Given the description of an element on the screen output the (x, y) to click on. 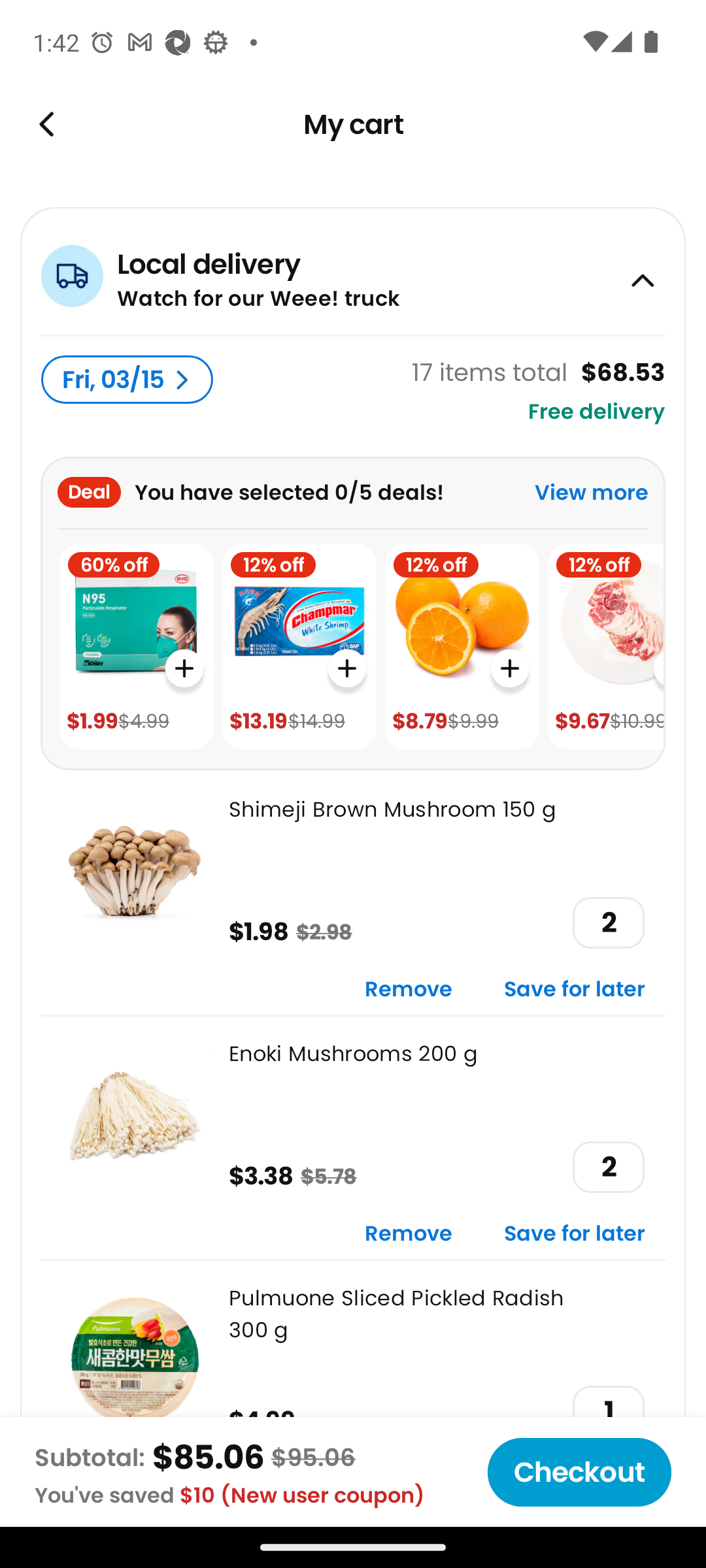
Local delivery Watch for our Weee! truck (352, 269)
Fri, 03/15 (126, 379)
60% off $1.99 $4.99 (136, 646)
12% off $13.19 $14.99 (299, 646)
12% off $8.79 $9.99 (461, 646)
12% off $9.67 $10.99 (605, 646)
2 (608, 922)
Remove (408, 989)
Save for later (574, 989)
2 (608, 1167)
Remove (408, 1234)
Save for later (574, 1234)
Checkout (579, 1471)
